Given the description of an element on the screen output the (x, y) to click on. 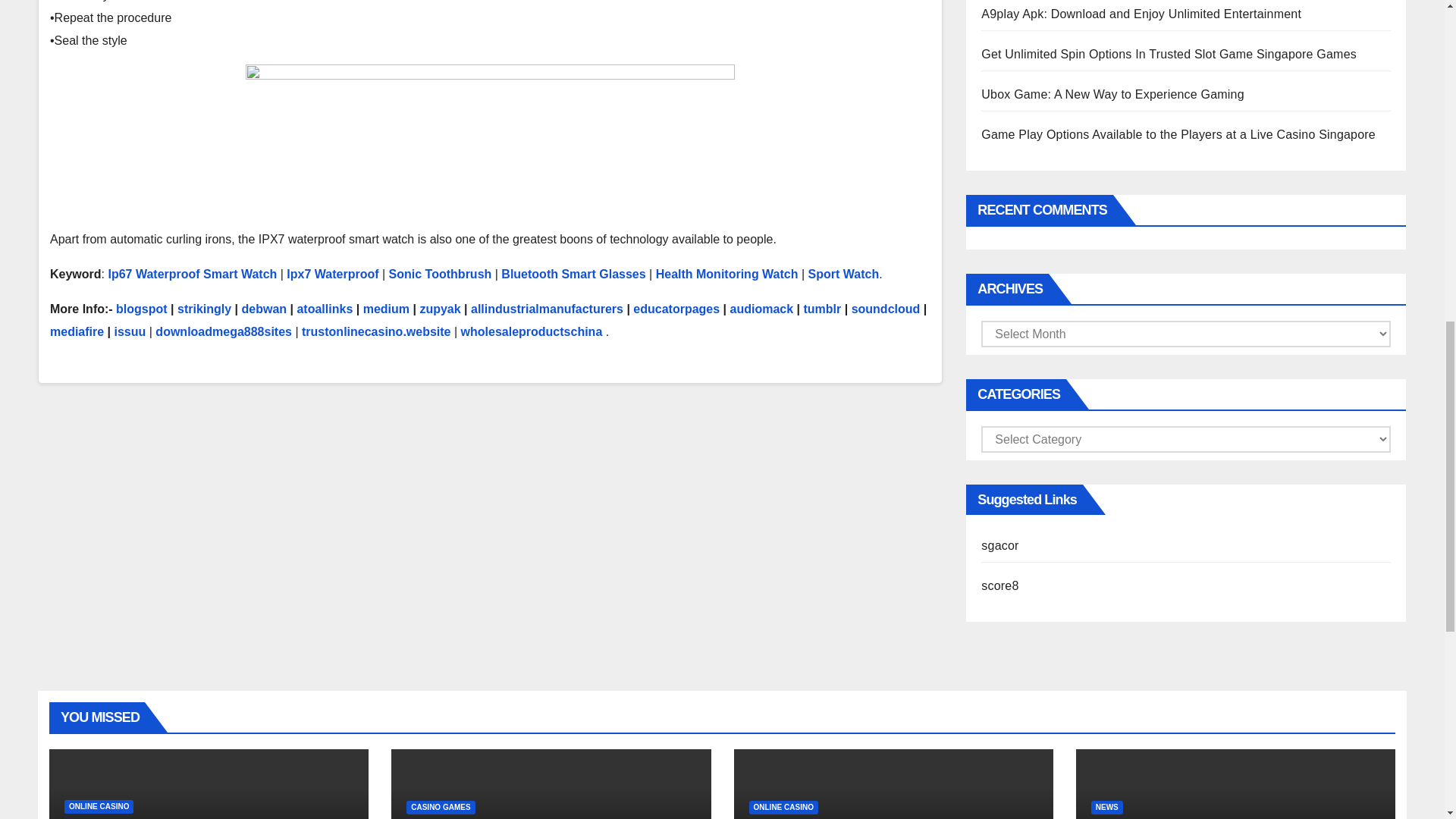
debwan (263, 308)
educatorpages (676, 308)
Sport Watch (843, 273)
Ip67 Waterproof Smart Watch (191, 273)
atoallinks (324, 308)
Health Monitoring Watch (726, 273)
zupyak (439, 308)
strikingly (204, 308)
Bluetooth Smart Glasses (572, 273)
